Given the description of an element on the screen output the (x, y) to click on. 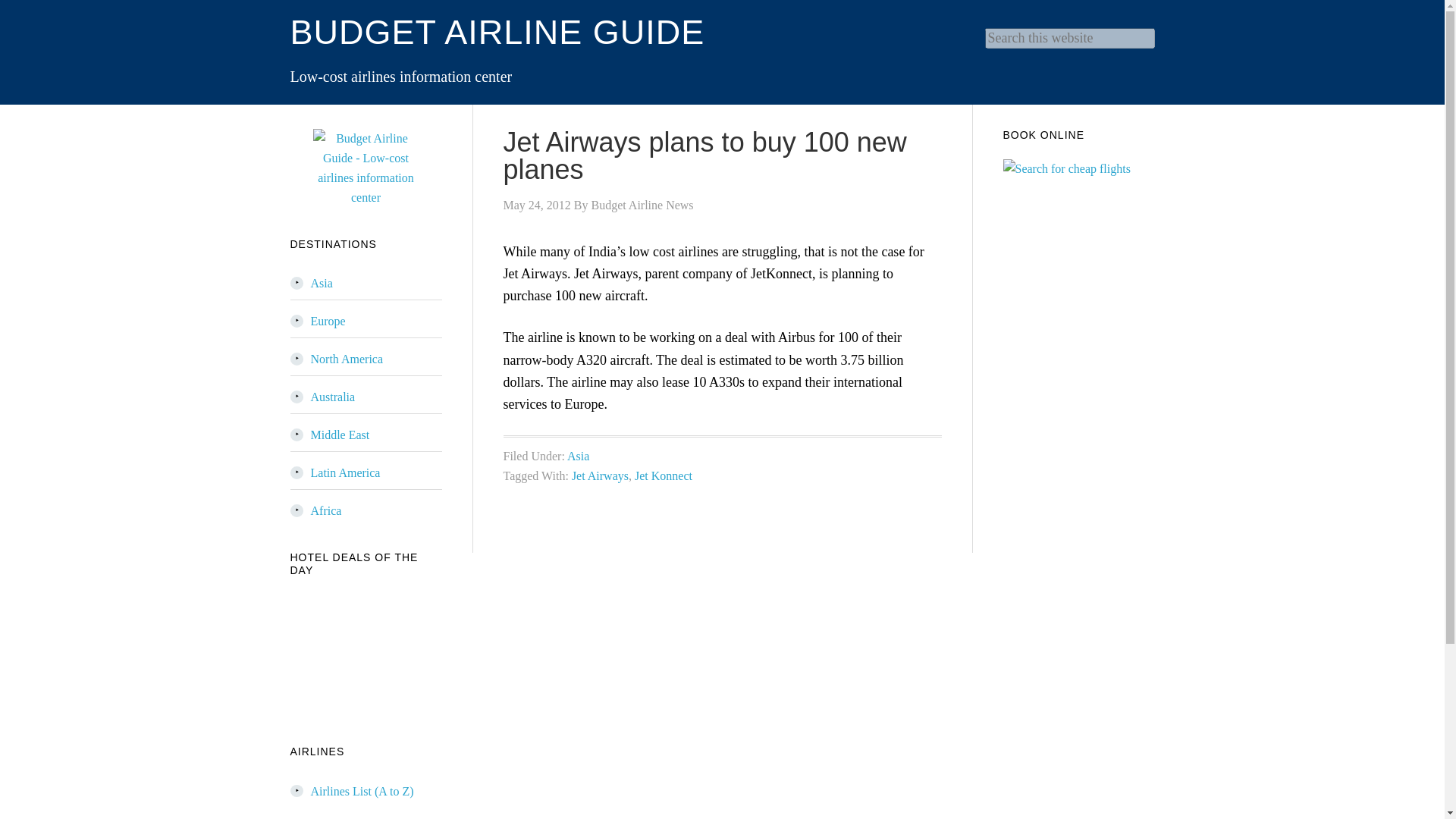
Budget Airlines in Asia (322, 282)
BUDGET AIRLINE GUIDE (496, 32)
Budget Airlines in Latin America (345, 472)
Budget Airlines in Australia (333, 396)
Africa (326, 510)
Budget Airlines in Africa (326, 510)
Middle East (340, 434)
Asia (322, 282)
Jet Airways (600, 475)
Jet Airways plans to buy 100 new planes (705, 155)
Budget Airlines in the Middle East (340, 434)
Budget Airlines in Europe (328, 320)
Budget Airlines List (362, 790)
